Given the description of an element on the screen output the (x, y) to click on. 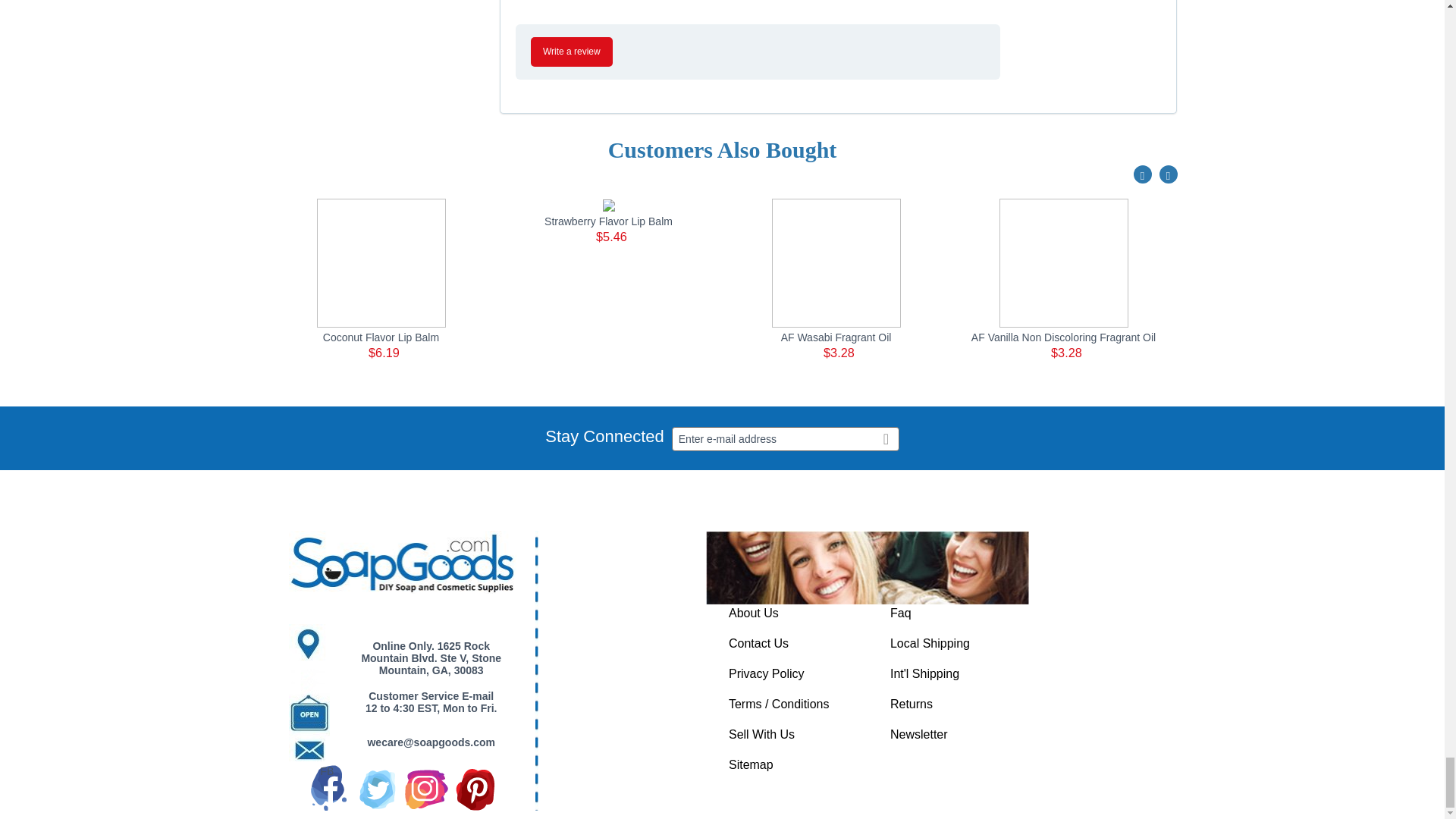
Enter e-mail address (785, 438)
